Given the description of an element on the screen output the (x, y) to click on. 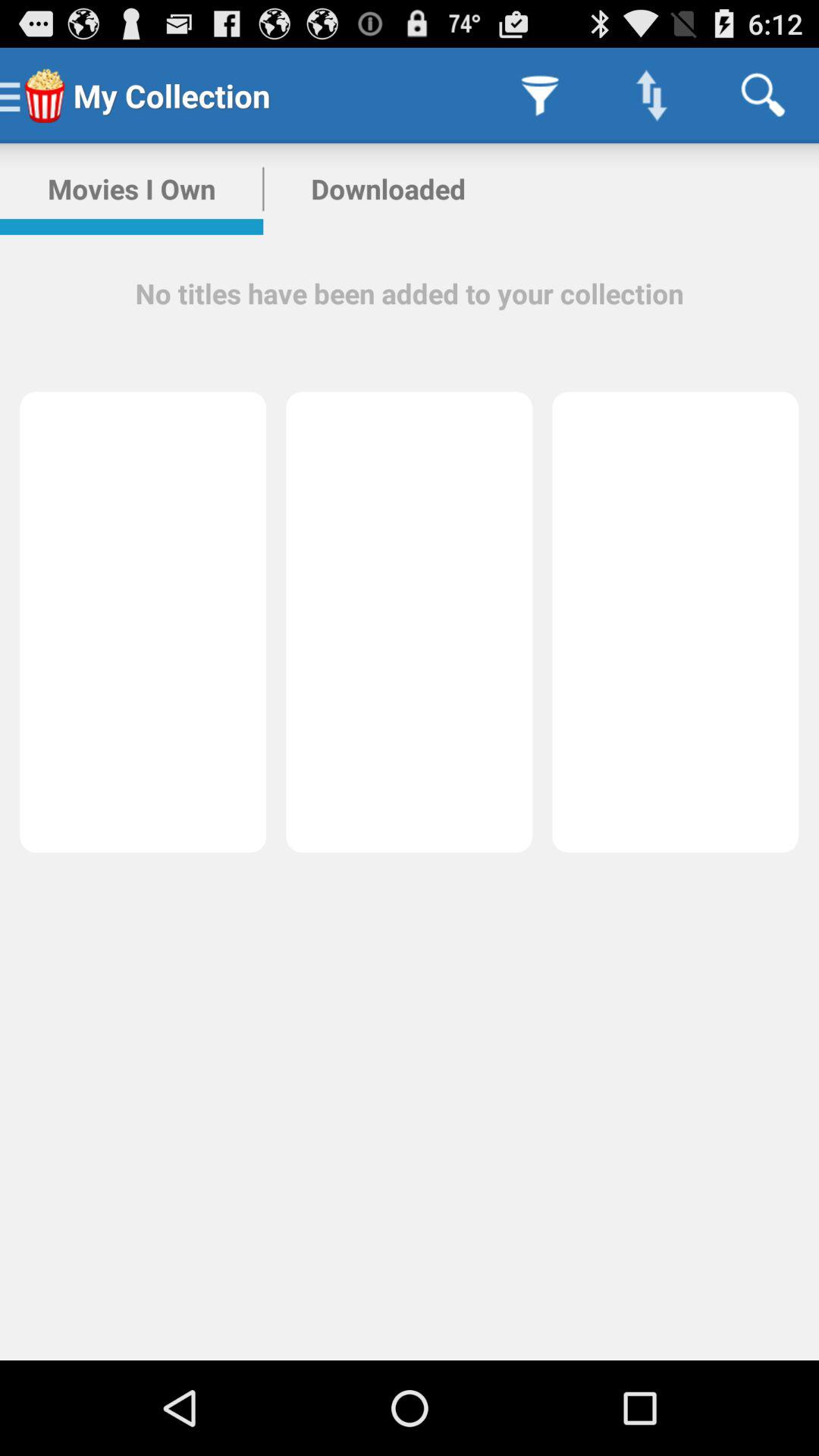
swipe until the downloaded app (388, 188)
